Given the description of an element on the screen output the (x, y) to click on. 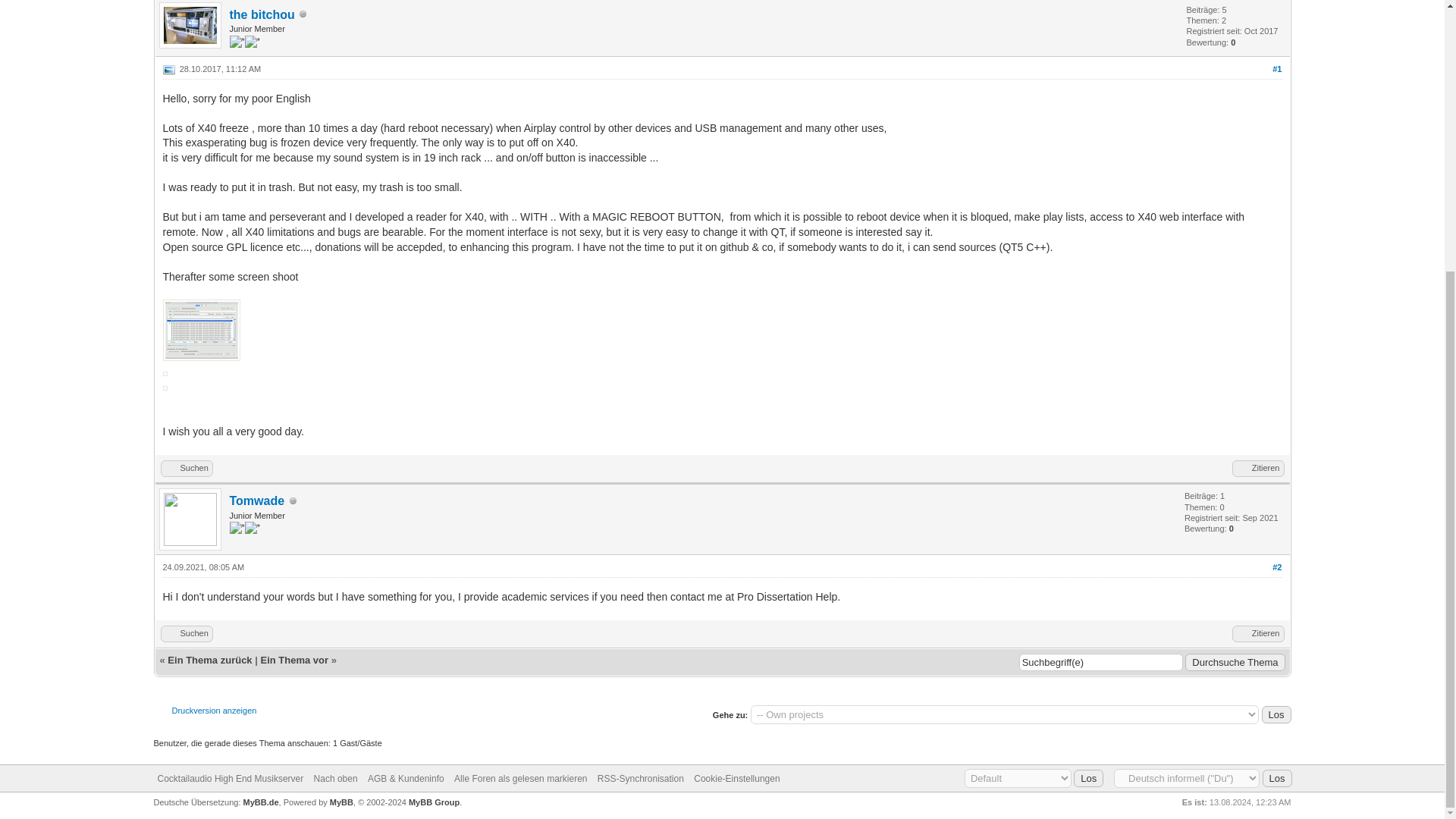
RE: My X40 reader with reboot button (1276, 566)
My X40 reader with reboot button (1276, 68)
Los (1276, 714)
Tomwade (255, 500)
Offline (302, 14)
Los (1088, 778)
Diese Nachricht in einer Antwort zitieren (1257, 468)
Diese Nachricht in einer Antwort zitieren (1257, 633)
Suchen (186, 468)
Durchsuche Thema (1234, 661)
